Given the description of an element on the screen output the (x, y) to click on. 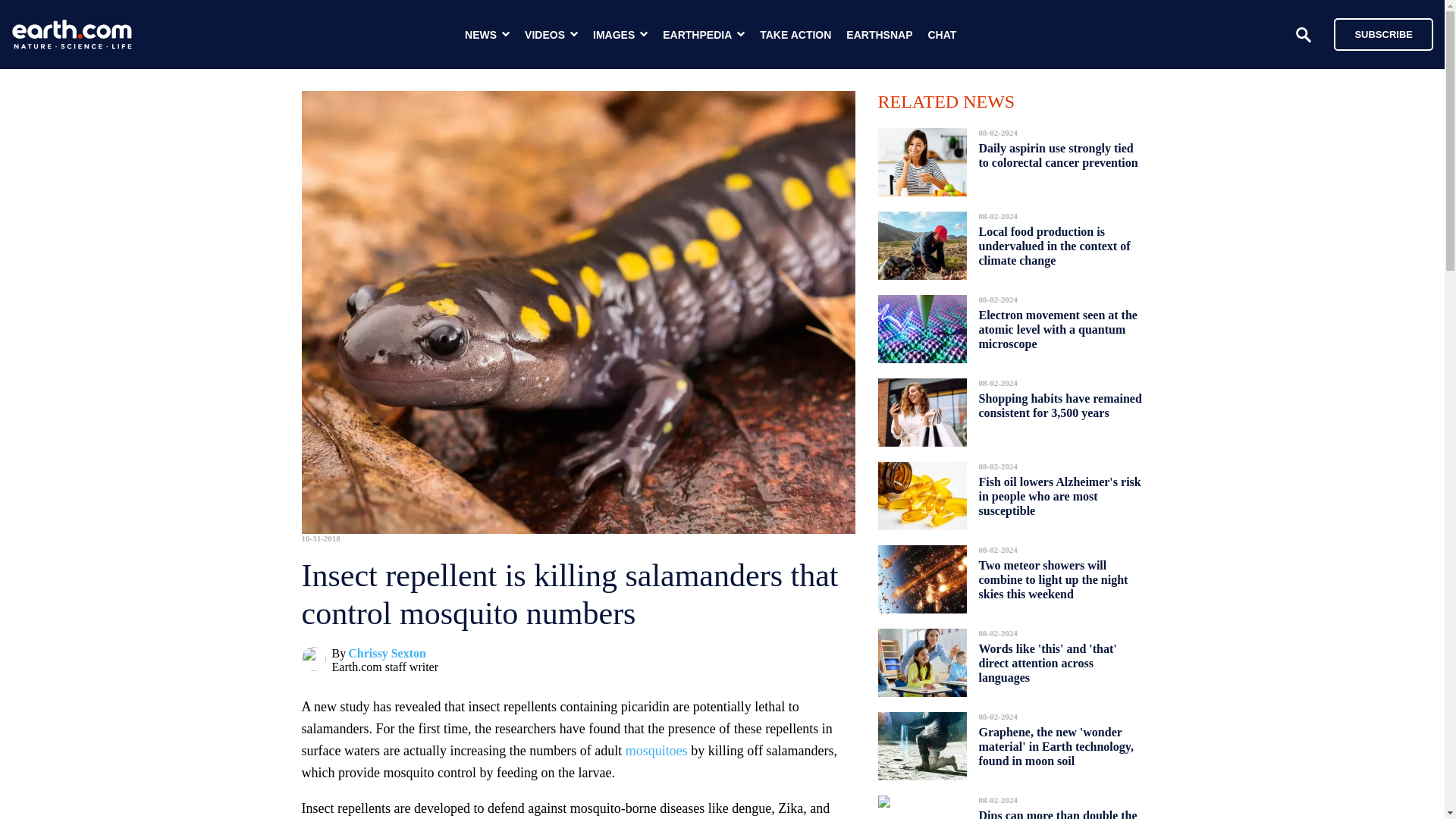
SUBSCRIBE (1382, 34)
SUBSCRIBE (1375, 33)
TAKE ACTION (795, 34)
Shopping habits have remained consistent for 3,500 years (1059, 405)
Chrissy Sexton (386, 653)
EARTHSNAP (878, 34)
CHAT (941, 34)
